Given the description of an element on the screen output the (x, y) to click on. 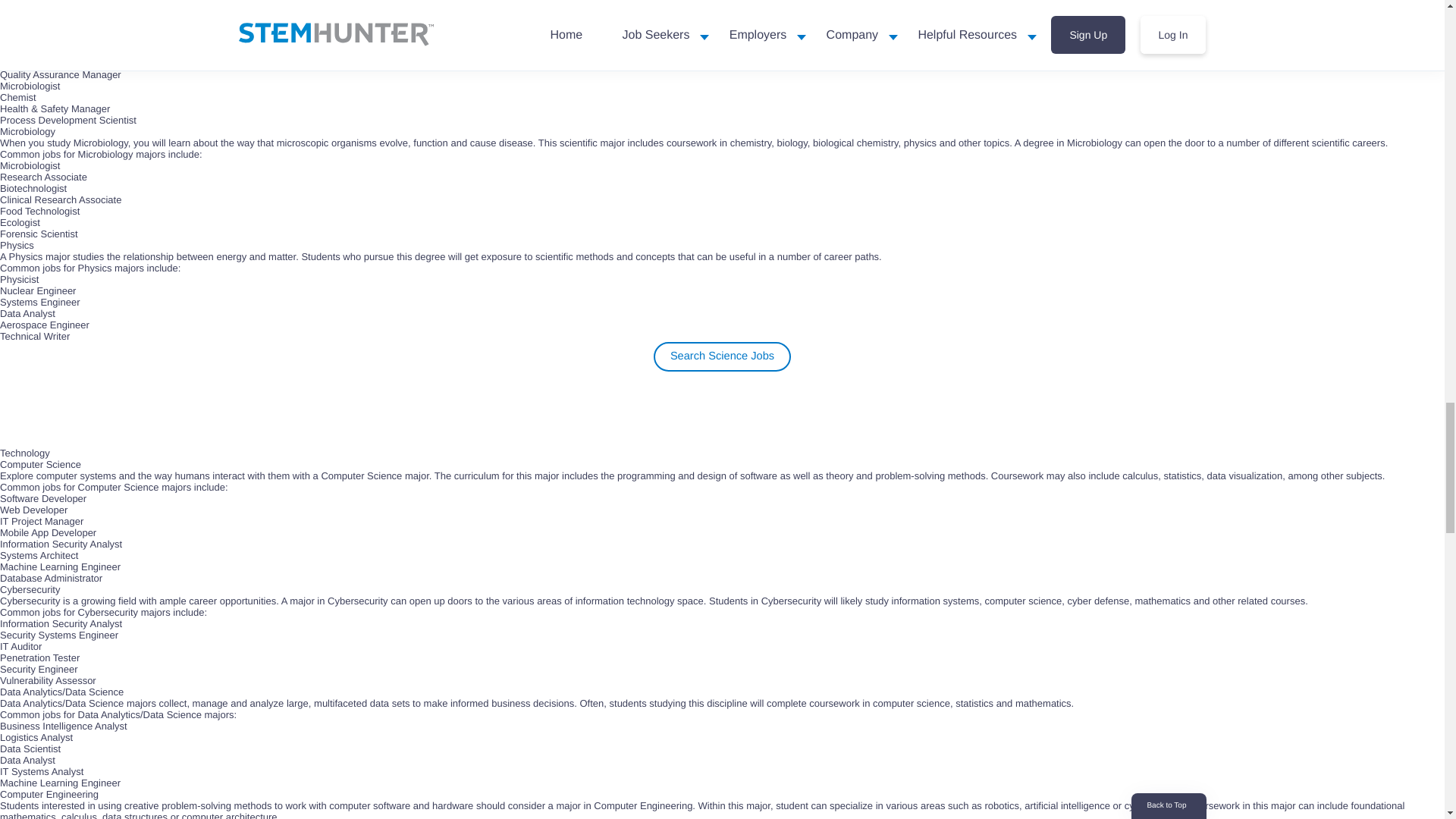
Search Science Jobs (721, 356)
